Given the description of an element on the screen output the (x, y) to click on. 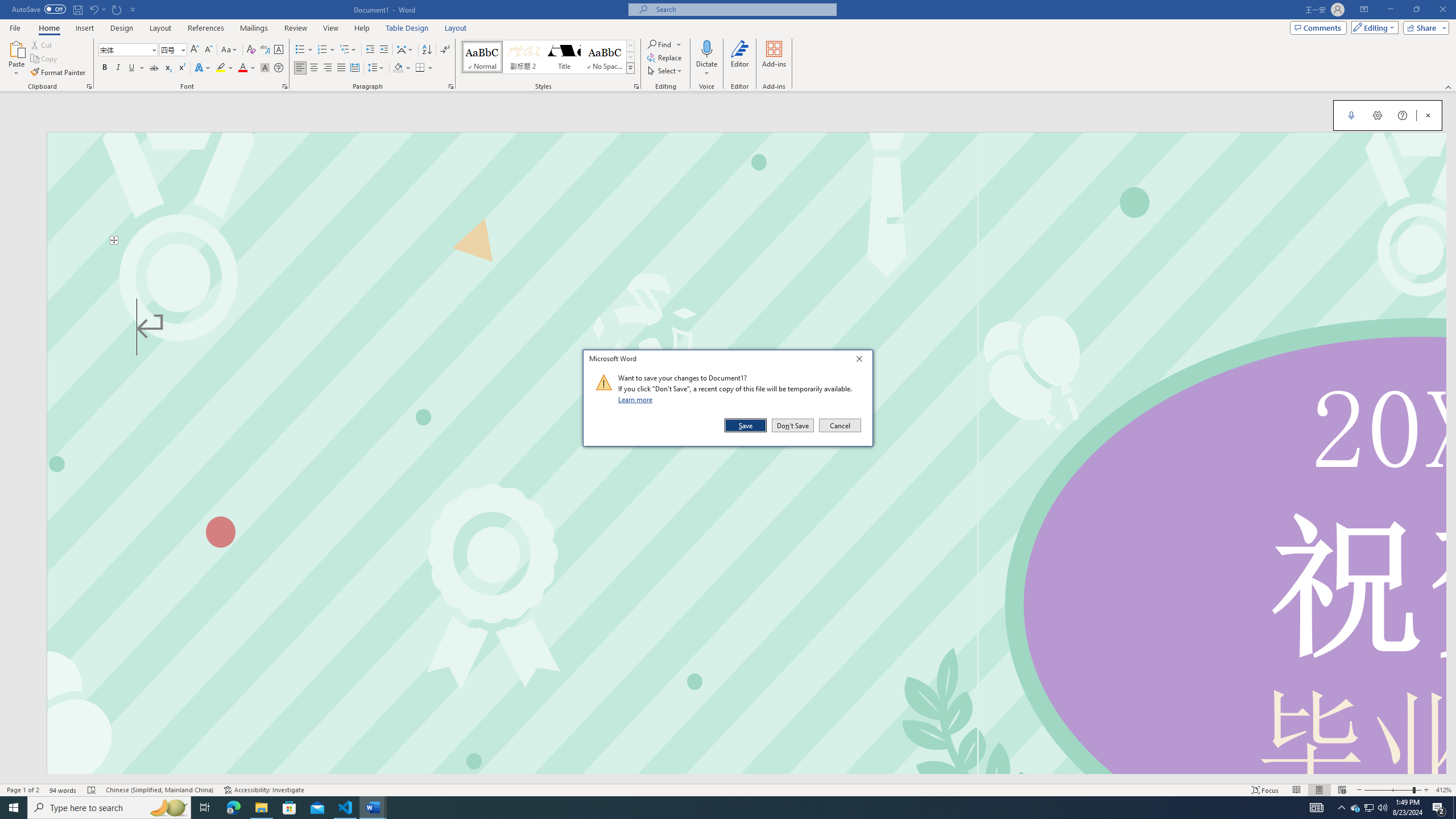
Page Number Page 1 of 2 (22, 790)
